Given the description of an element on the screen output the (x, y) to click on. 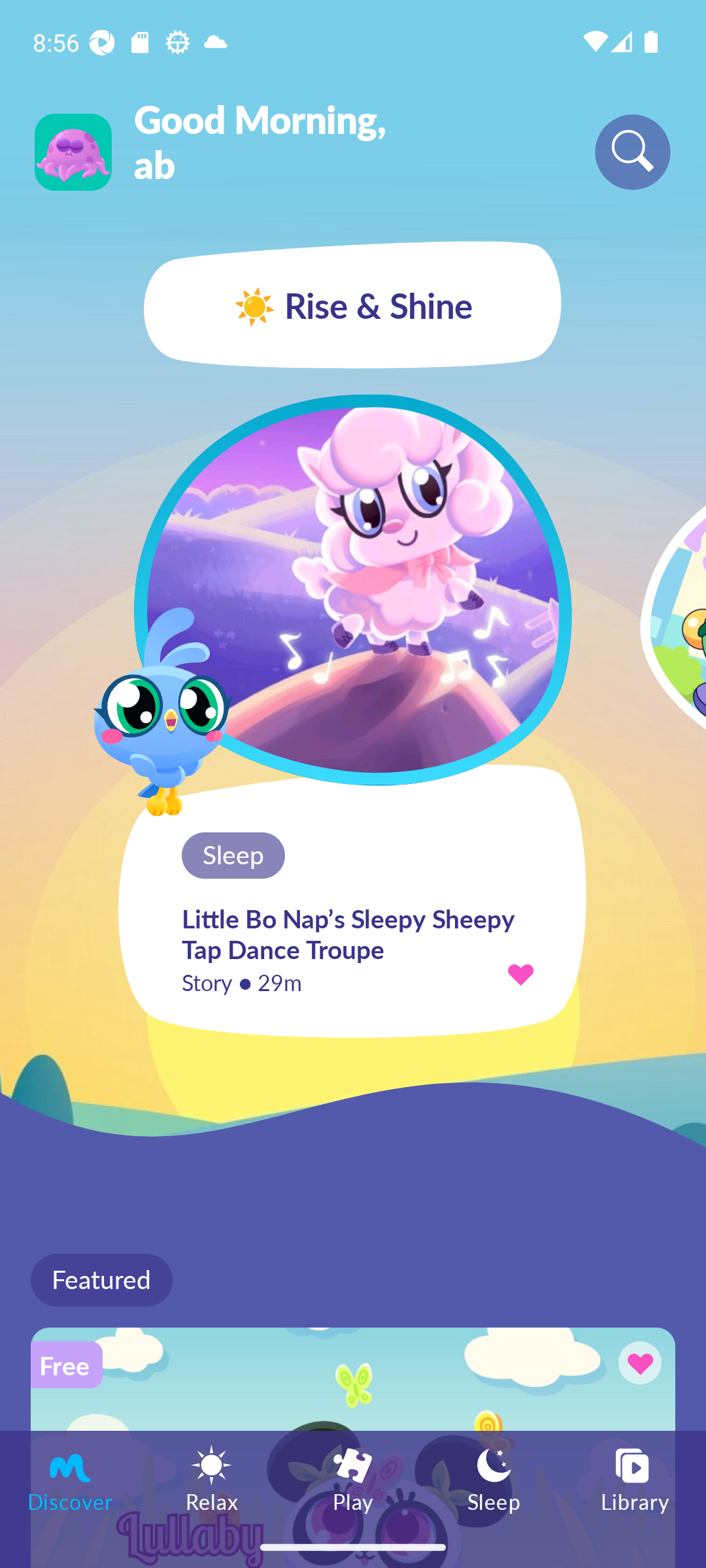
Search (632, 151)
action (520, 973)
Button (636, 1365)
Relax (211, 1478)
Play (352, 1478)
Sleep (493, 1478)
Library (635, 1478)
